Given the description of an element on the screen output the (x, y) to click on. 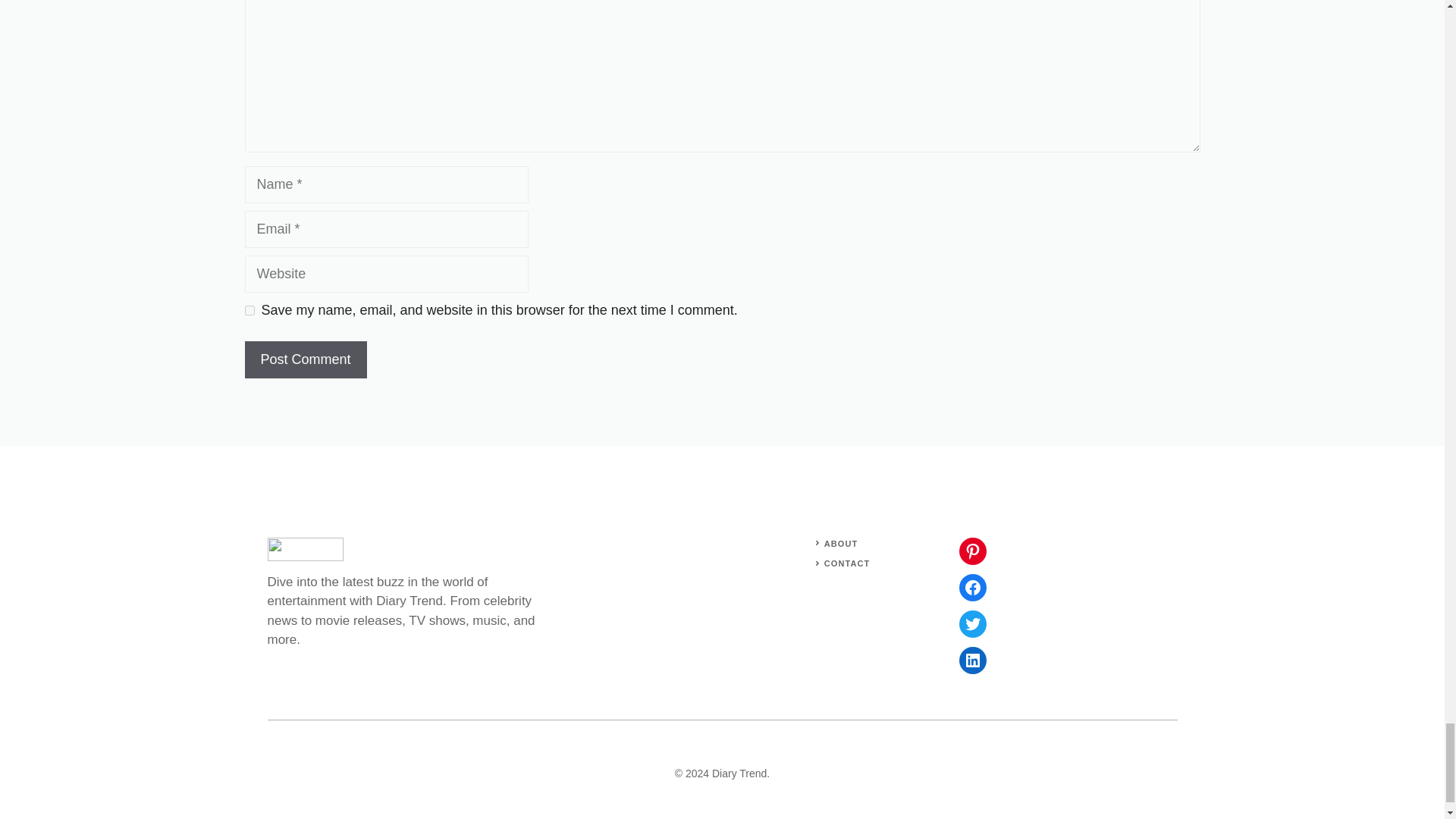
Diary Trend (739, 773)
Twitter (971, 624)
Pinterest (971, 551)
yes (248, 310)
CONTACT (847, 563)
Post Comment (305, 359)
Post Comment (305, 359)
Facebook (971, 587)
LinkedIn (971, 660)
ABOUT (841, 542)
